Given the description of an element on the screen output the (x, y) to click on. 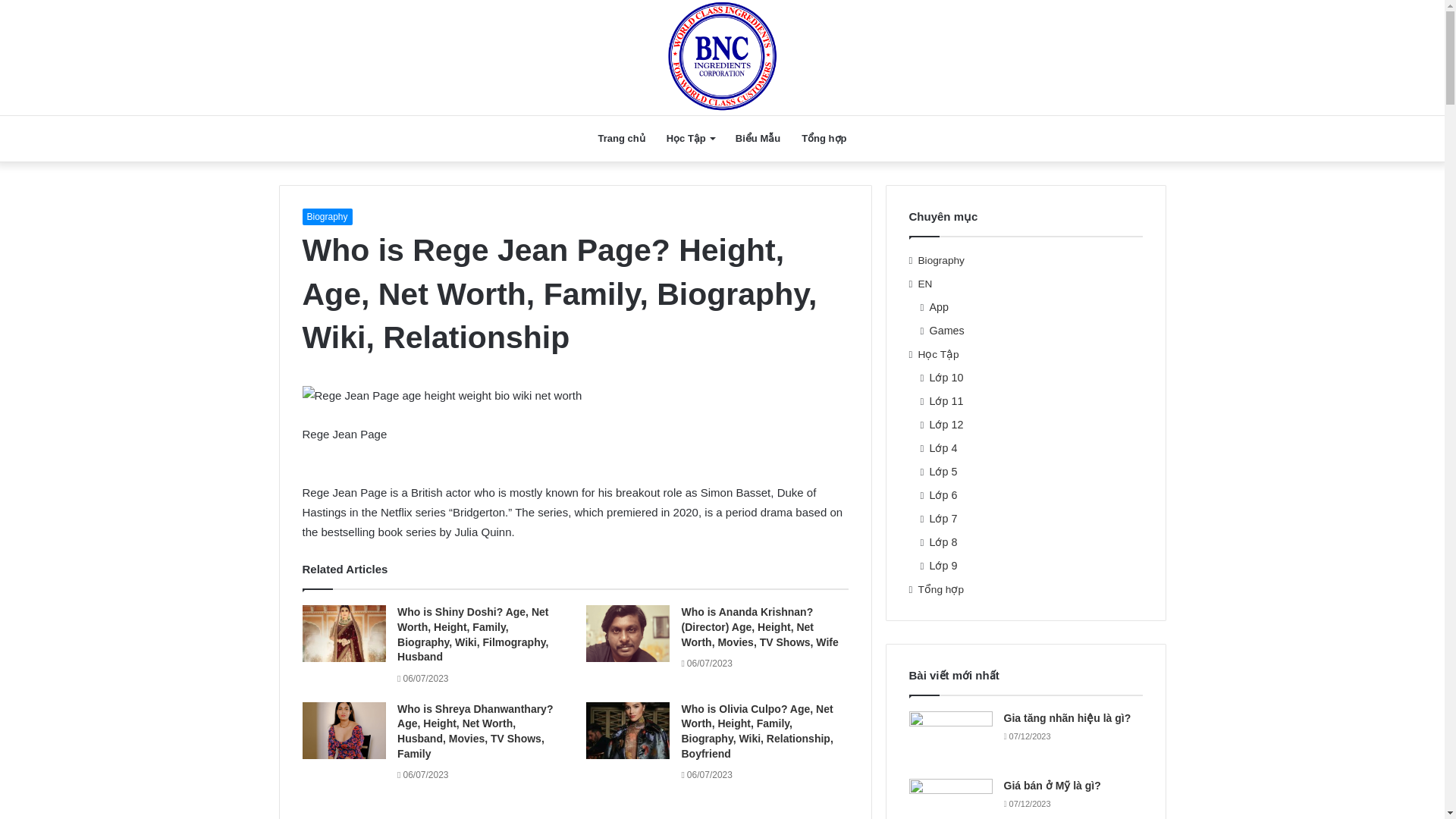
Biography (326, 216)
BNC.Edu.vn (721, 57)
